Given the description of an element on the screen output the (x, y) to click on. 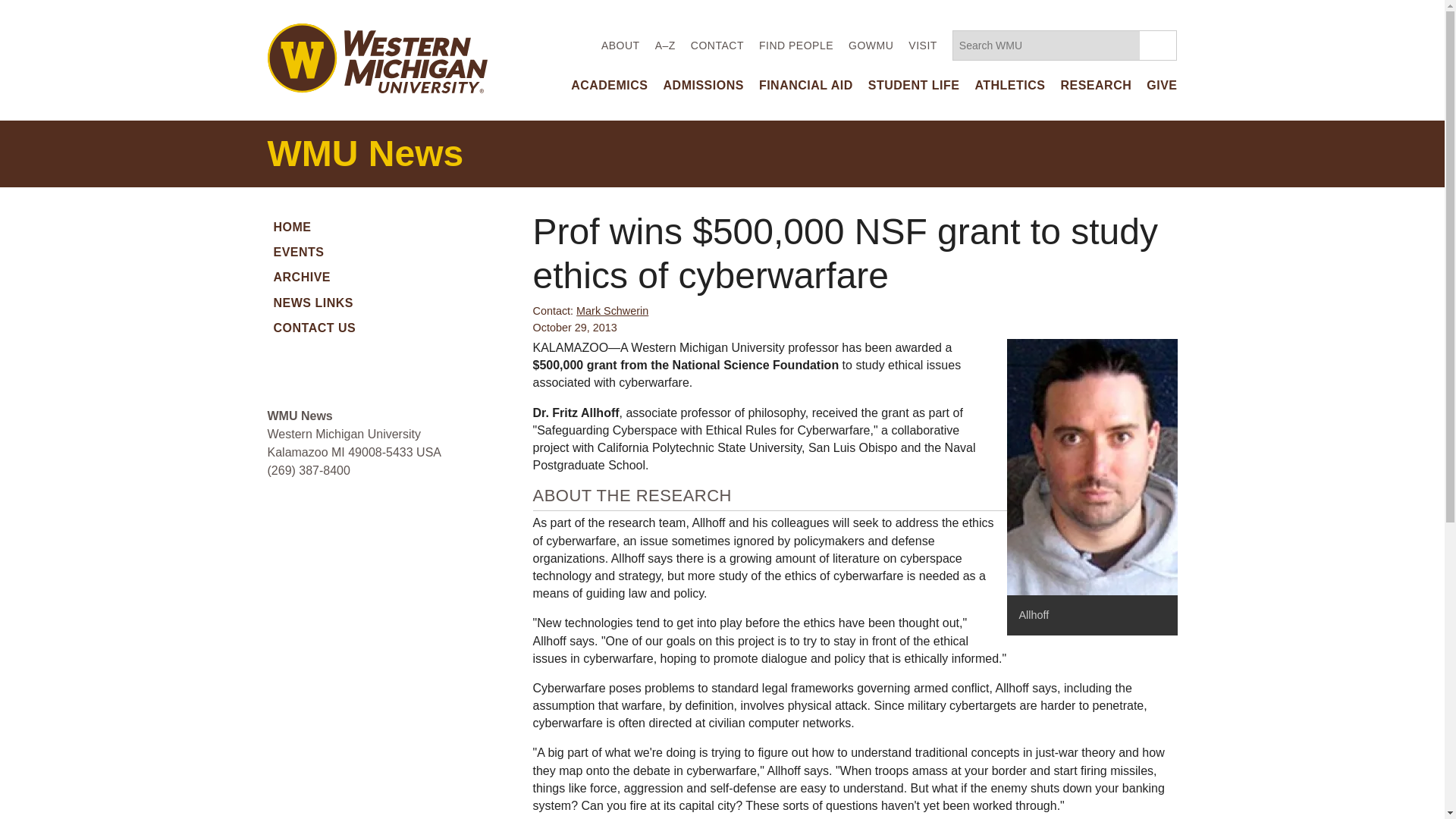
VISIT (922, 45)
Back to Western Michigan University home page (376, 56)
STUDENT LIFE (913, 85)
ATHLETICS (1009, 85)
GOWMU (870, 45)
ABOUT (620, 45)
GIVE (1161, 85)
SEARCH (1158, 45)
FINANCIAL AID (805, 85)
ADMISSIONS (703, 85)
CONTACT (717, 45)
FIND PEOPLE (795, 45)
WMU News (364, 153)
RESEARCH (1095, 85)
